Given the description of an element on the screen output the (x, y) to click on. 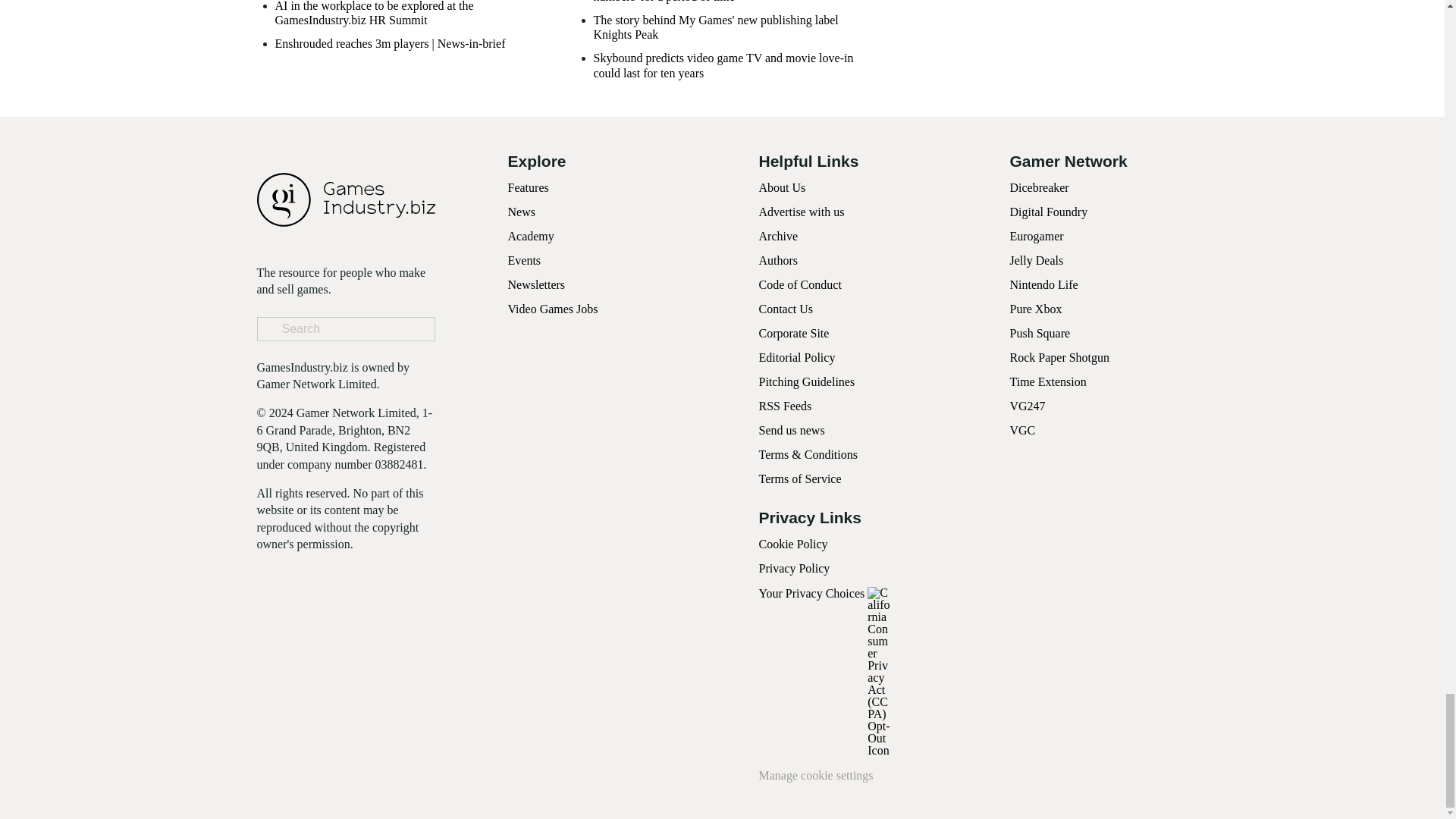
About Us (781, 187)
Archive (777, 236)
Video Games Jobs (553, 308)
Events (524, 259)
Features (528, 187)
News (521, 211)
Academy (531, 236)
Advertise with us (801, 211)
Newsletters (537, 284)
